Given the description of an element on the screen output the (x, y) to click on. 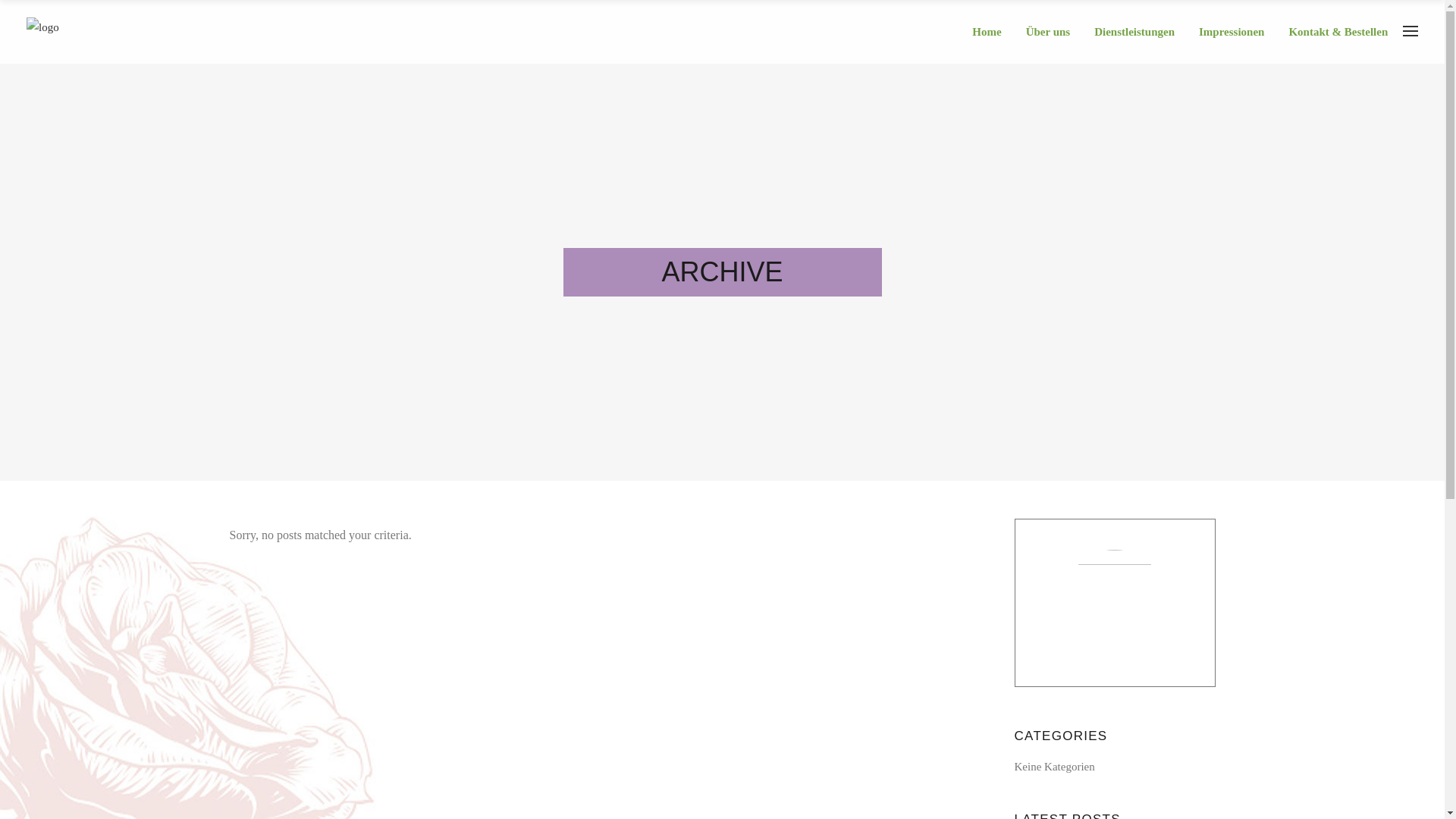
Dienstleistungen Element type: text (1140, 31)
Impressionen Element type: text (1237, 31)
Kontakt & Bestellen Element type: text (1343, 31)
Home Element type: text (992, 31)
